Given the description of an element on the screen output the (x, y) to click on. 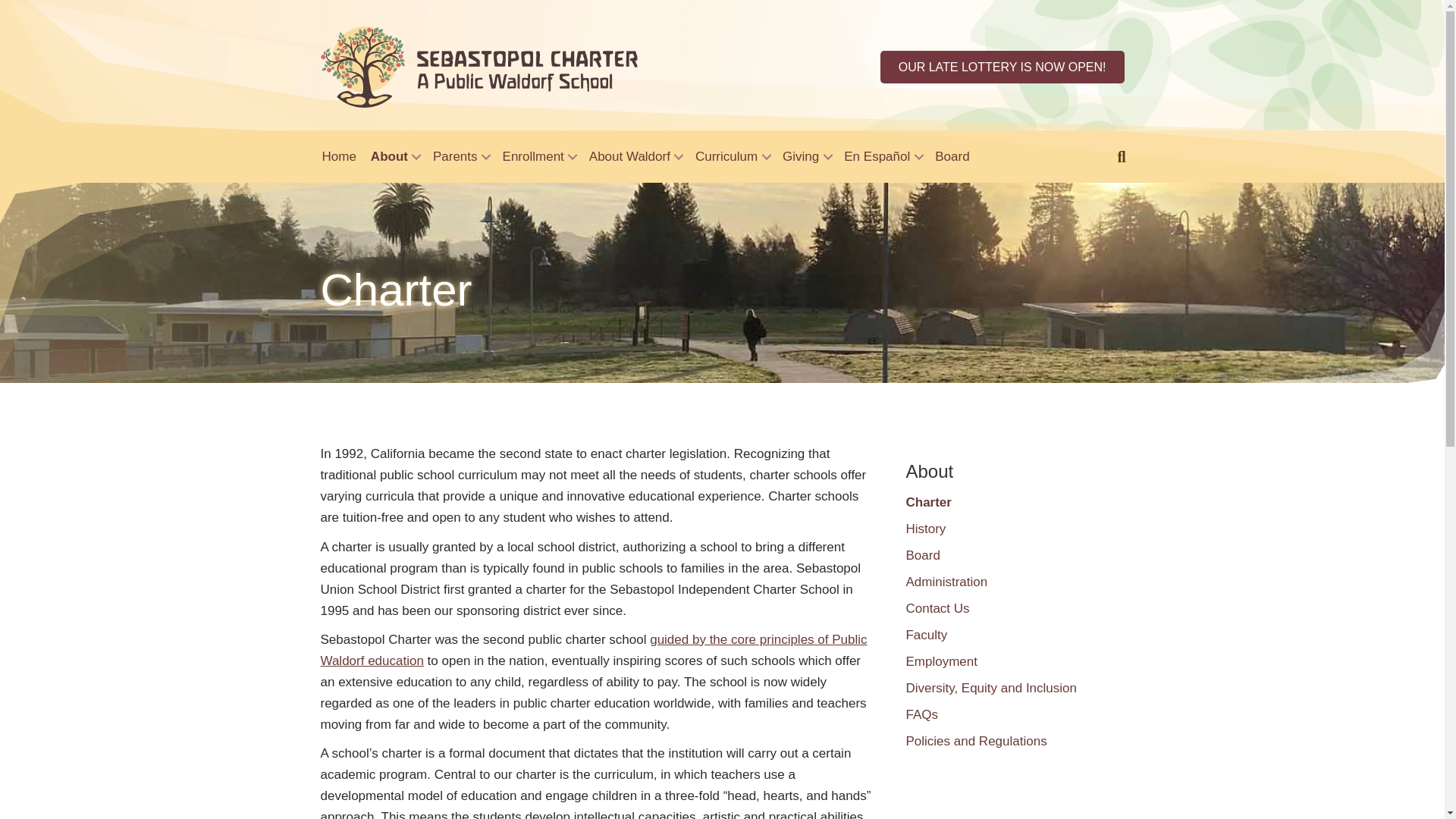
scs-logo-dark (478, 66)
Home (338, 156)
Parents (460, 156)
About (394, 156)
Enrollment (538, 156)
About Waldorf (634, 156)
OUR LATE LOTTERY IS NOW OPEN! (1002, 66)
